Given the description of an element on the screen output the (x, y) to click on. 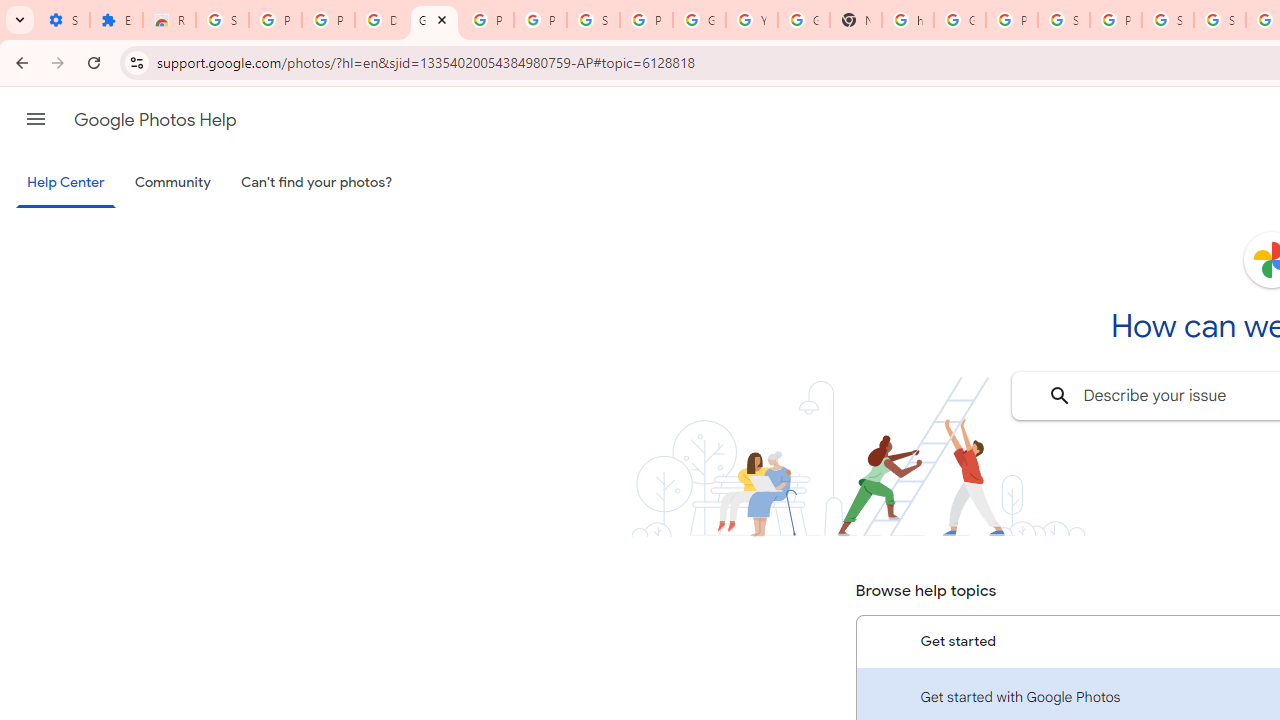
https://scholar.google.com/ (907, 20)
Settings - On startup (63, 20)
Delete photos & videos - Computer - Google Photos Help (381, 20)
Google Photos Help (155, 119)
Sign in - Google Accounts (1219, 20)
